Given the description of an element on the screen output the (x, y) to click on. 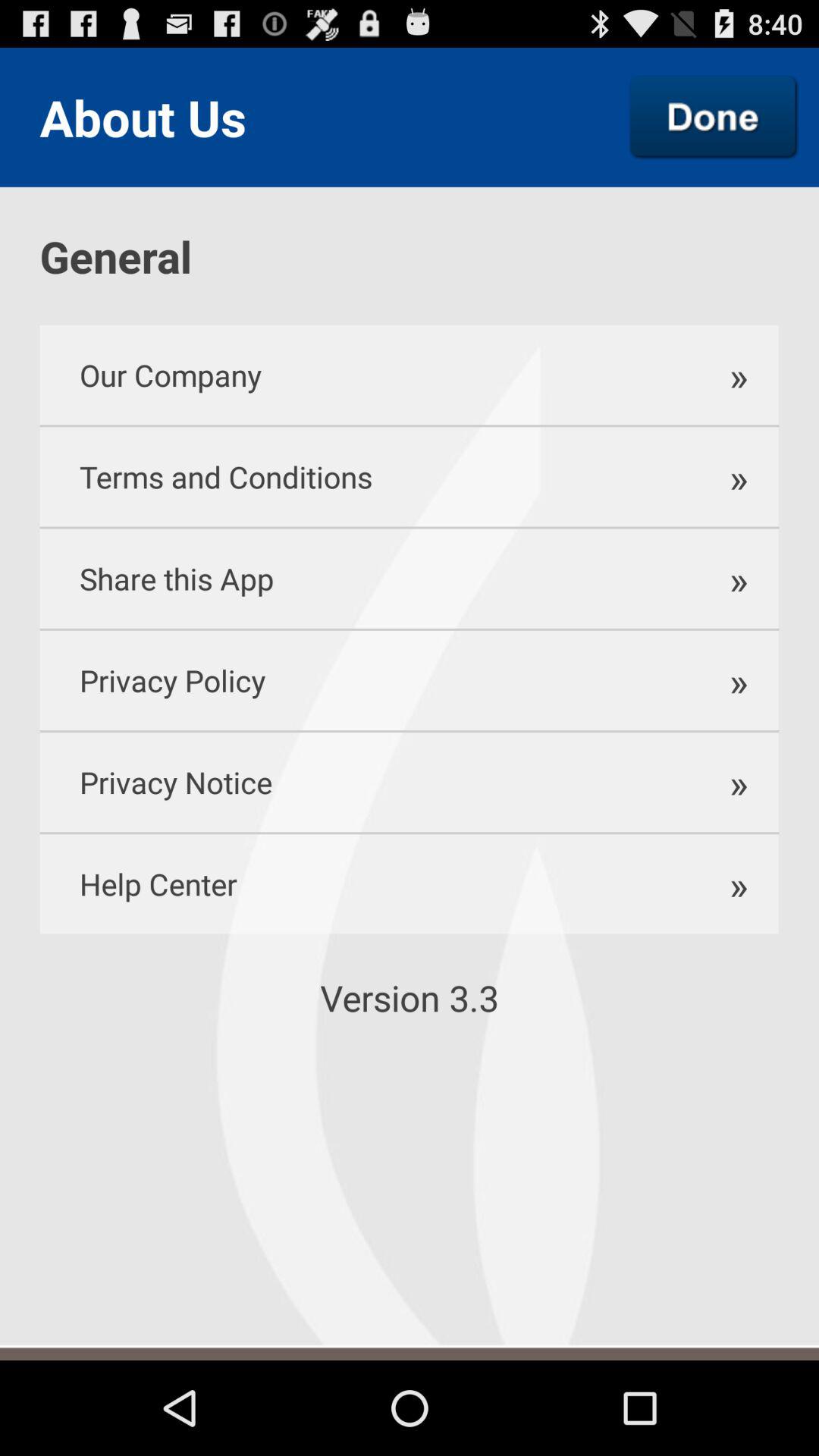
tap the icon next to the privacy policy (731, 782)
